Given the description of an element on the screen output the (x, y) to click on. 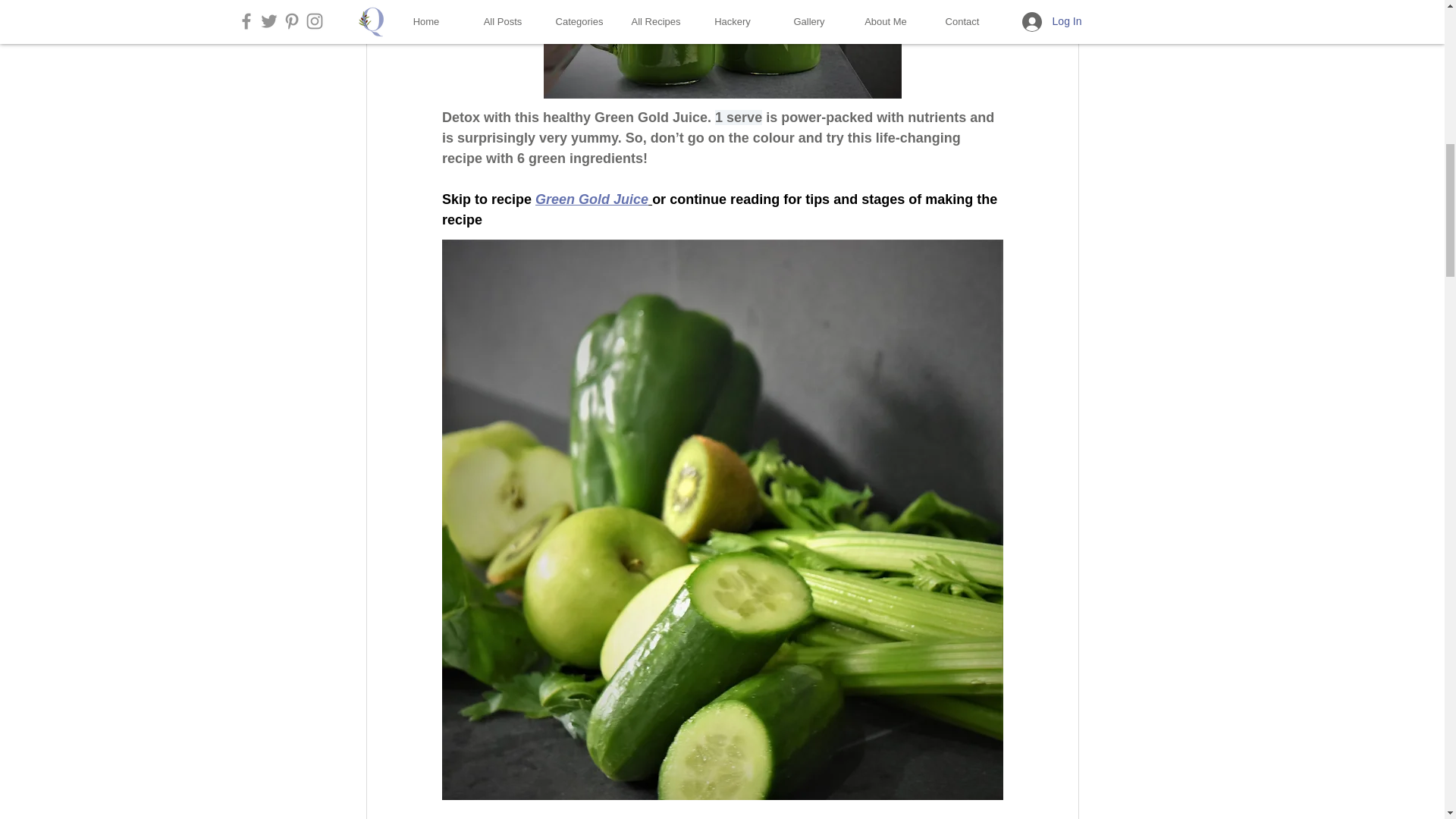
Green Gold Juice (591, 199)
